Given the description of an element on the screen output the (x, y) to click on. 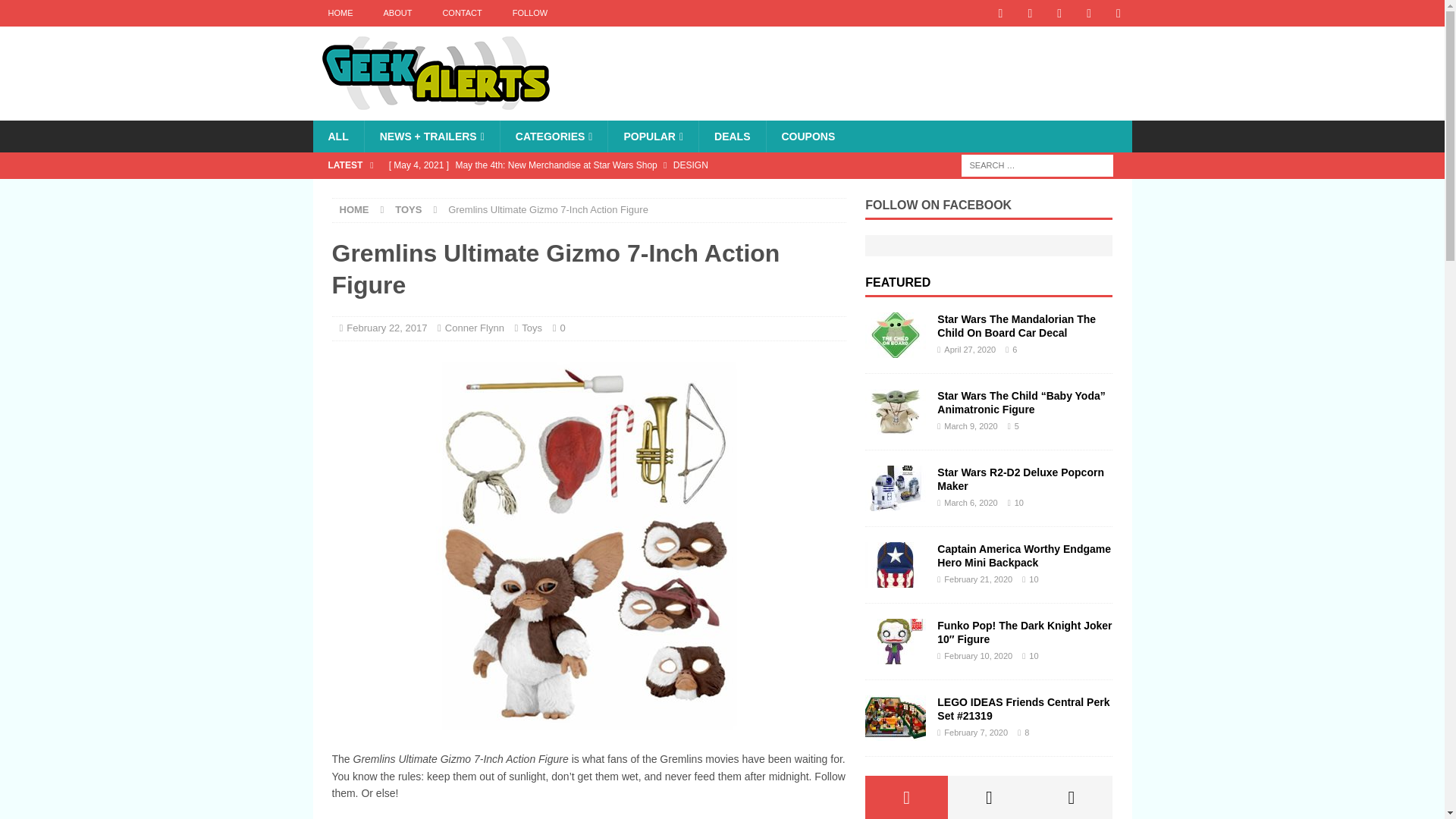
ABOUT (398, 13)
May the 4th: New Merchandise at Star Wars Shop (612, 165)
Rick and Morty Get Shwifty Bluetooth Speaker (612, 190)
FOLLOW (529, 13)
HOME (340, 13)
CONTACT (461, 13)
